Given the description of an element on the screen output the (x, y) to click on. 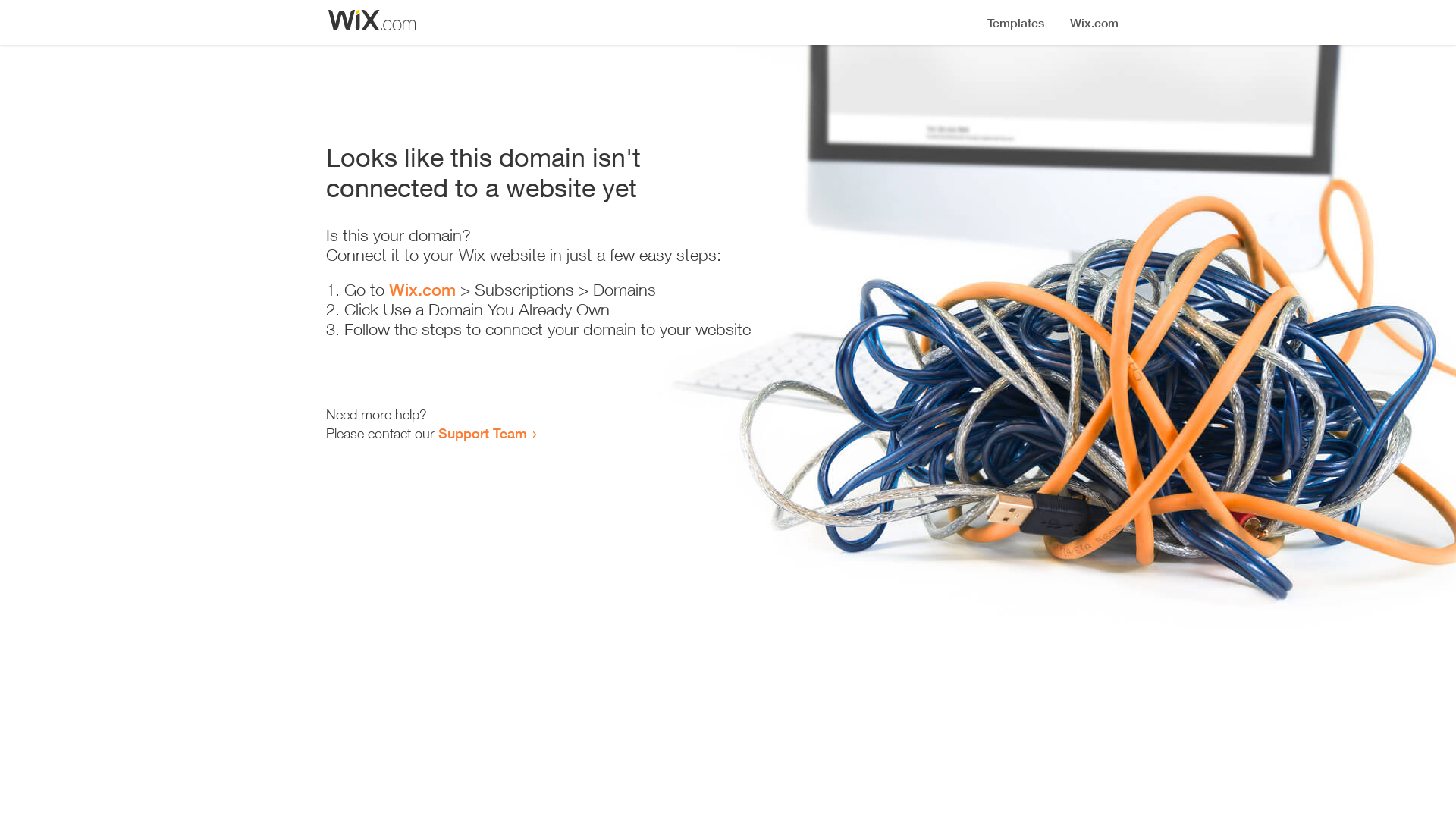
Support Team Element type: text (482, 432)
Wix.com Element type: text (422, 289)
